Given the description of an element on the screen output the (x, y) to click on. 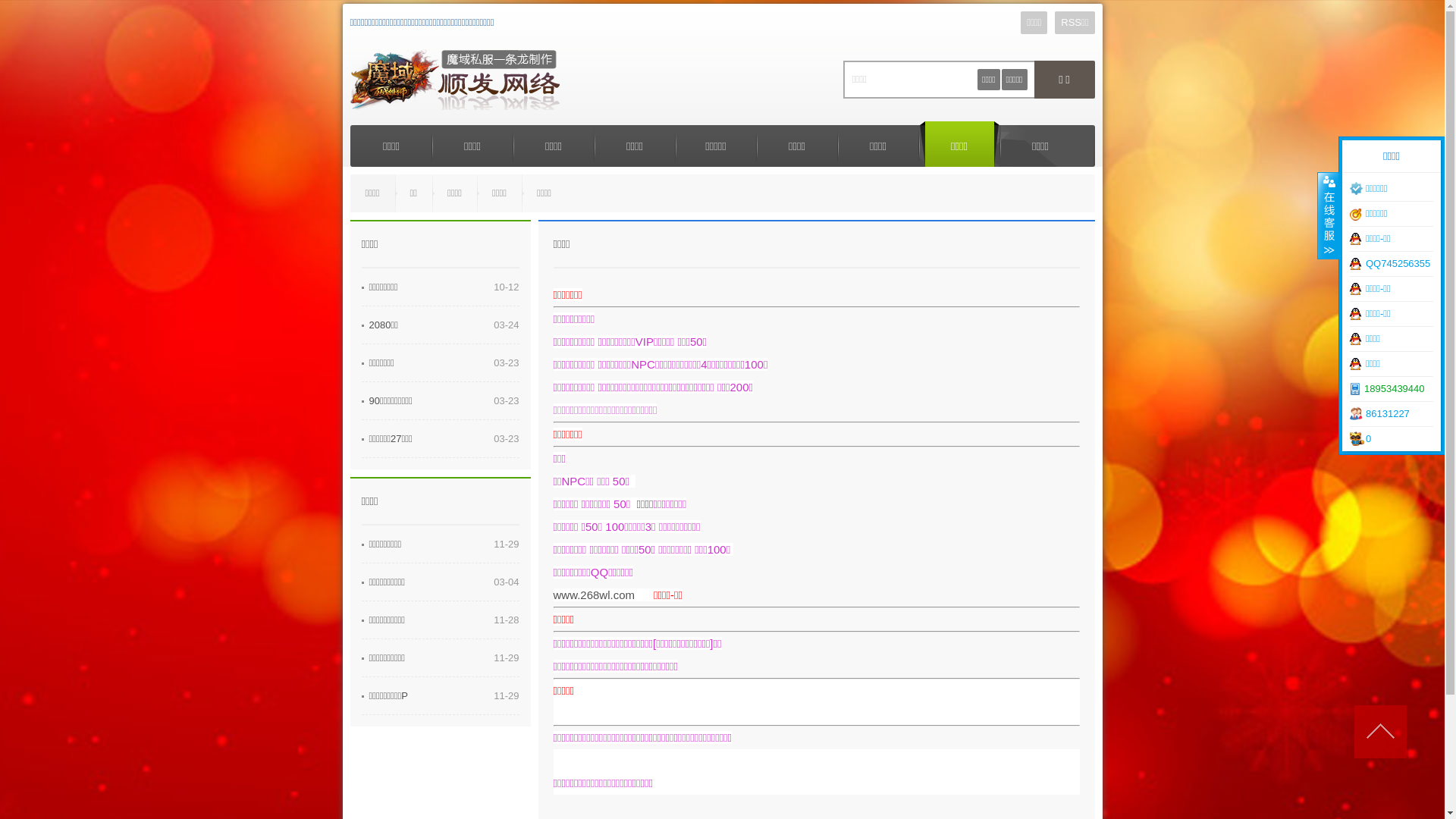
QQ745256355 Element type: text (1391, 263)
www.268wl.com Element type: text (594, 594)
86131227 Element type: text (1391, 413)
0 Element type: text (1391, 438)
